Given the description of an element on the screen output the (x, y) to click on. 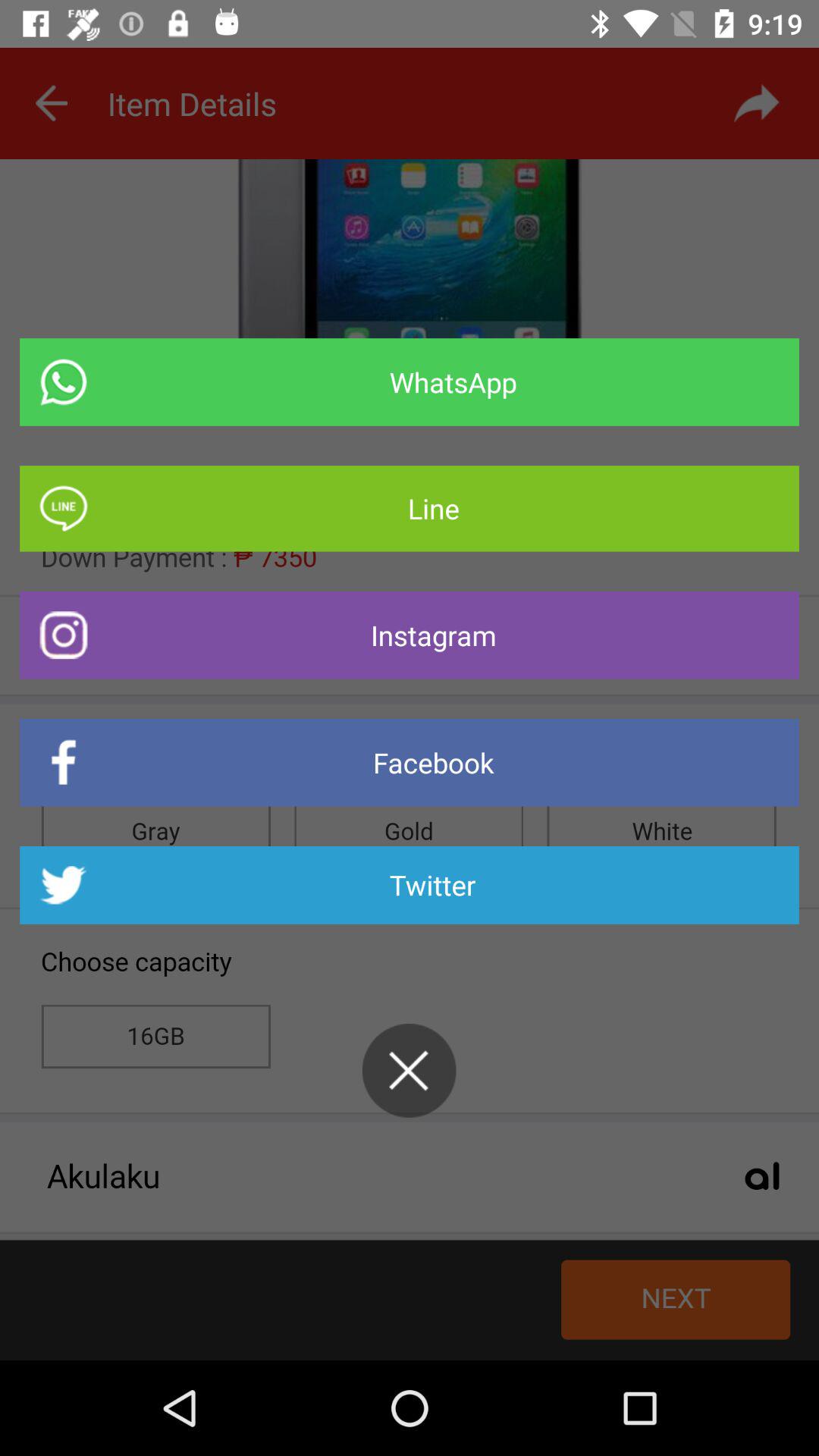
launch the icon above twitter (409, 762)
